Given the description of an element on the screen output the (x, y) to click on. 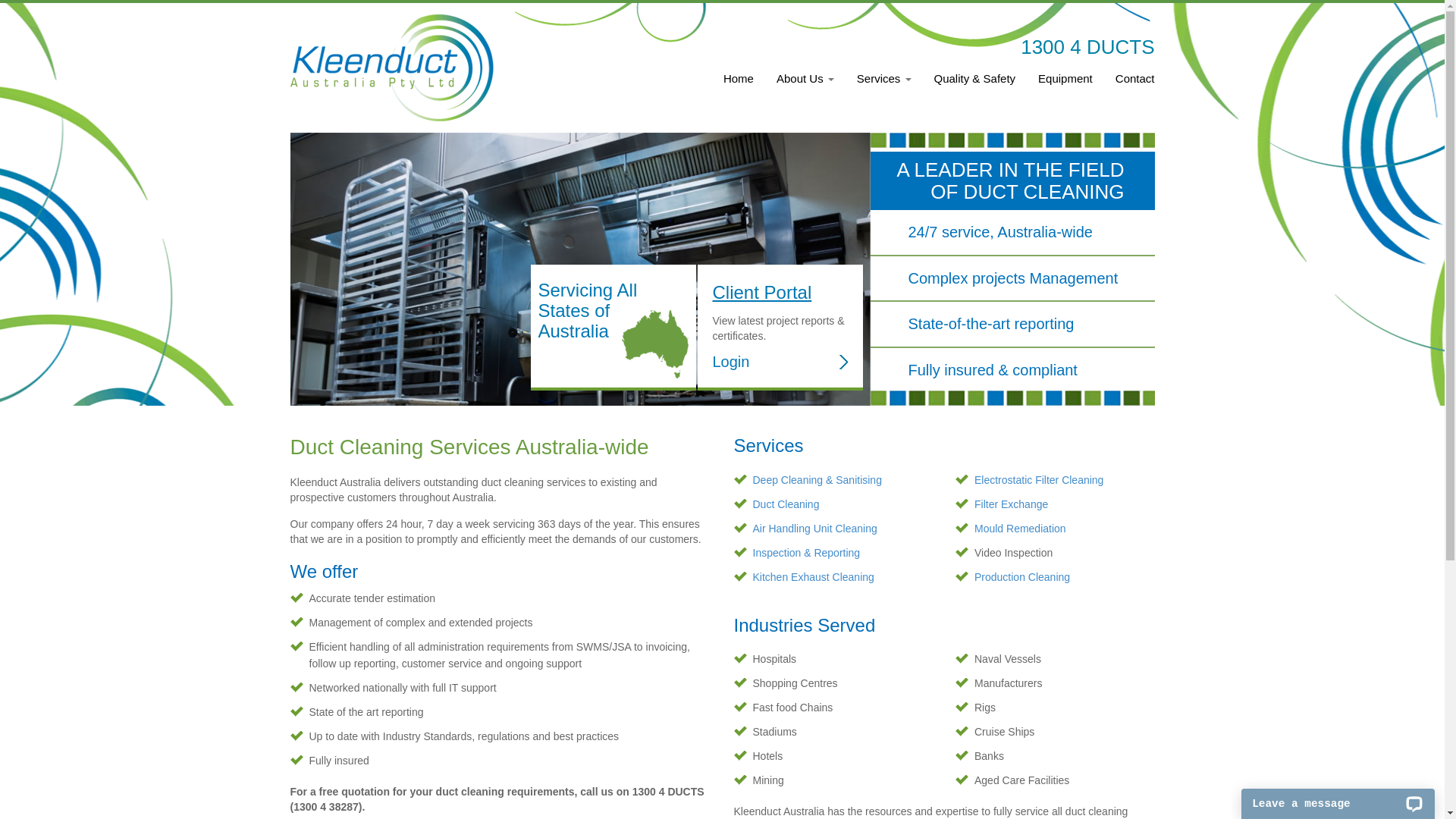
Login Element type: text (779, 362)
Equipment Element type: text (1065, 86)
Production Cleaning Element type: text (1022, 577)
Inspection & Reporting Element type: text (805, 552)
Mould Remediation Element type: text (1020, 528)
Services Element type: text (883, 86)
Kitchen Exhaust Cleaning Element type: text (812, 577)
Filter Exchange Element type: text (1011, 504)
About Us Element type: text (805, 86)
Air Handling Unit Cleaning Element type: text (814, 528)
Duct Cleaning Element type: text (785, 504)
Contact Element type: text (1129, 86)
Home Element type: text (738, 86)
Electrostatic Filter Cleaning Element type: text (1038, 479)
Quality & Safety Element type: text (974, 86)
Deep Cleaning & Sanitising Element type: text (816, 479)
